Given the description of an element on the screen output the (x, y) to click on. 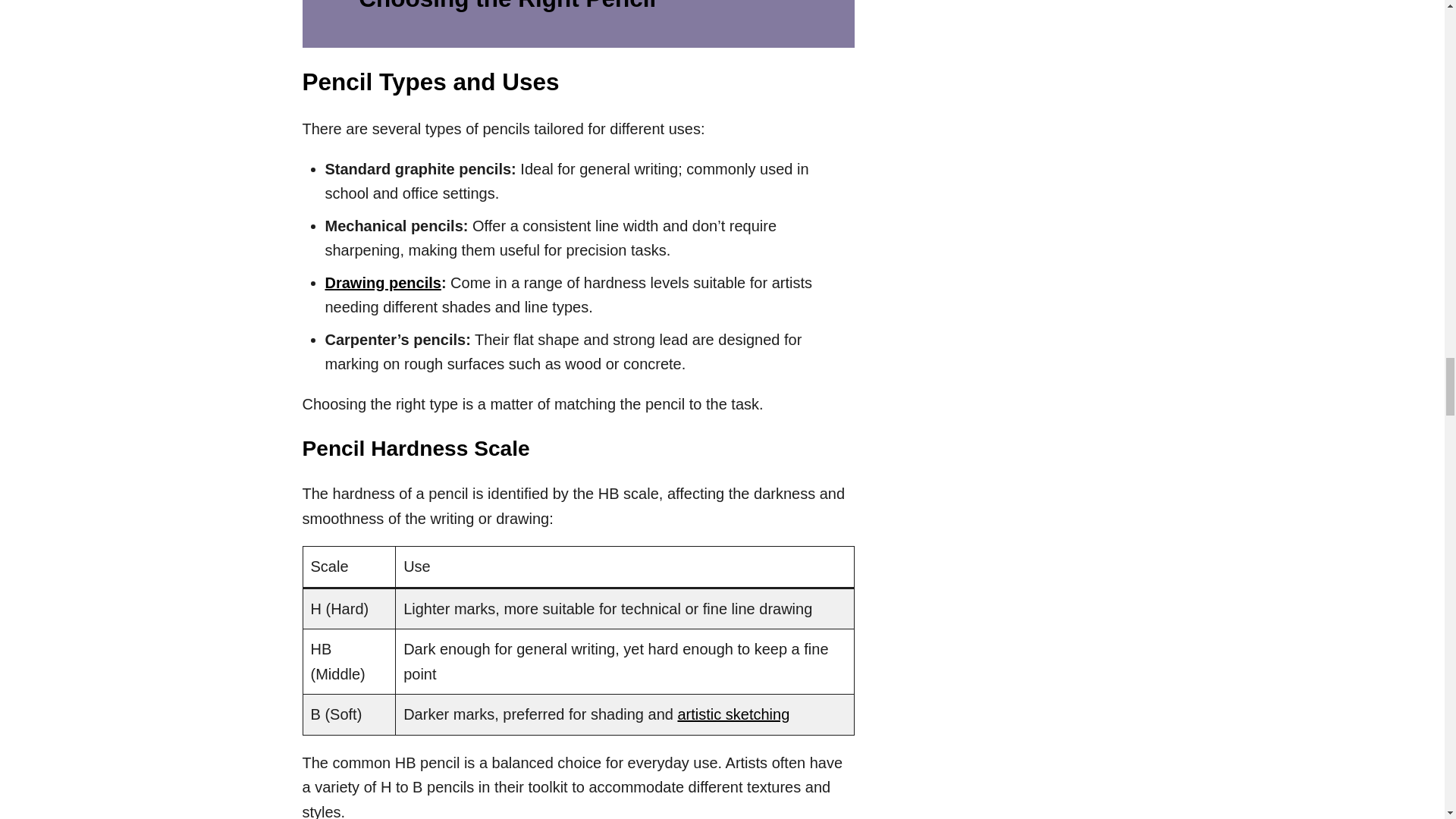
Drawing pencils (382, 282)
artistic sketching (733, 713)
